Given the description of an element on the screen output the (x, y) to click on. 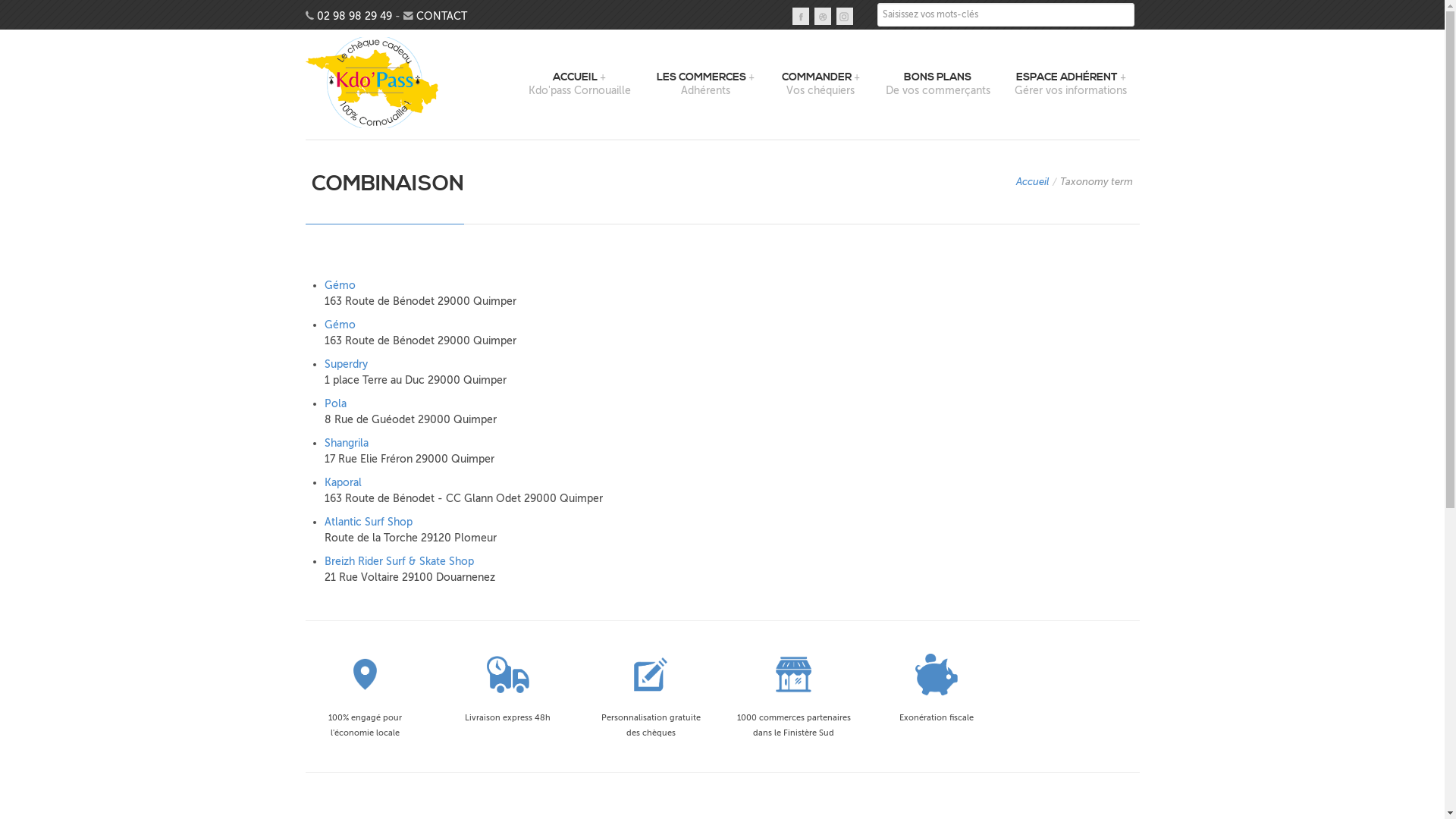
LES COMMERCES Element type: text (705, 77)
Breizh Rider Surf & Skate Shop Element type: text (398, 561)
Rechercher Element type: text (911, 44)
Shangrila Element type: text (346, 442)
Superdry Element type: text (345, 364)
Aller au contenu principal Element type: text (62, 0)
Accueil Element type: text (1032, 181)
Pola Element type: text (335, 403)
Facebook Element type: text (800, 16)
Kaporal Element type: text (342, 482)
Instagram Element type: text (844, 16)
02 98 98 29 49 Element type: text (354, 15)
ACCUEIL Element type: text (578, 77)
Taxonomy term Element type: text (1096, 181)
CONTACT Element type: text (440, 15)
COMMANDER Element type: text (820, 77)
Kdo'Pass Element type: text (370, 82)
BONS PLANS Element type: text (937, 77)
Atlantic Surf Shop Element type: text (368, 521)
Dribble Element type: text (822, 16)
